Given the description of an element on the screen output the (x, y) to click on. 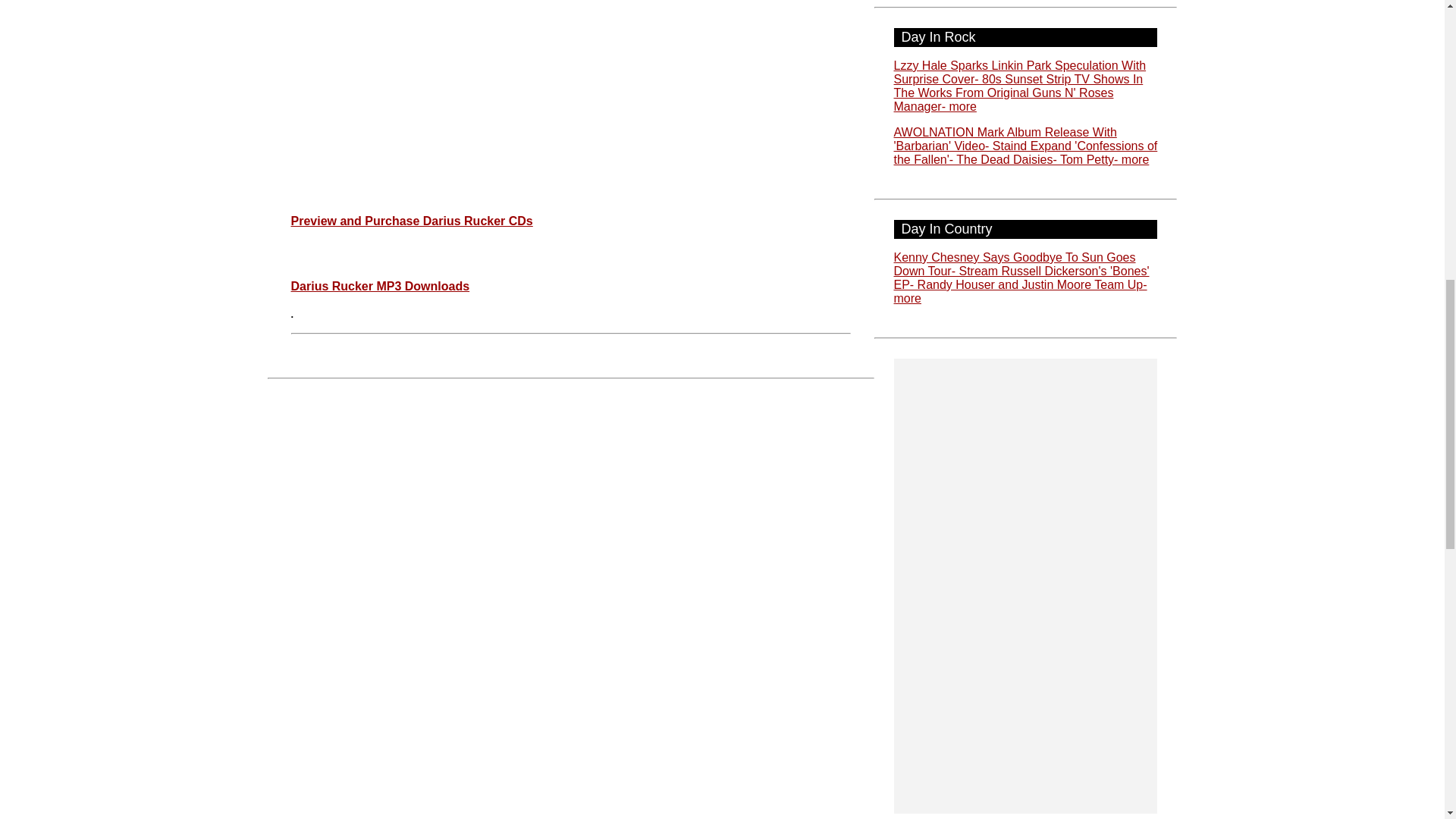
Darius Rucker MP3 Downloads (380, 286)
Preview and Purchase Darius Rucker CDs (411, 220)
